Given the description of an element on the screen output the (x, y) to click on. 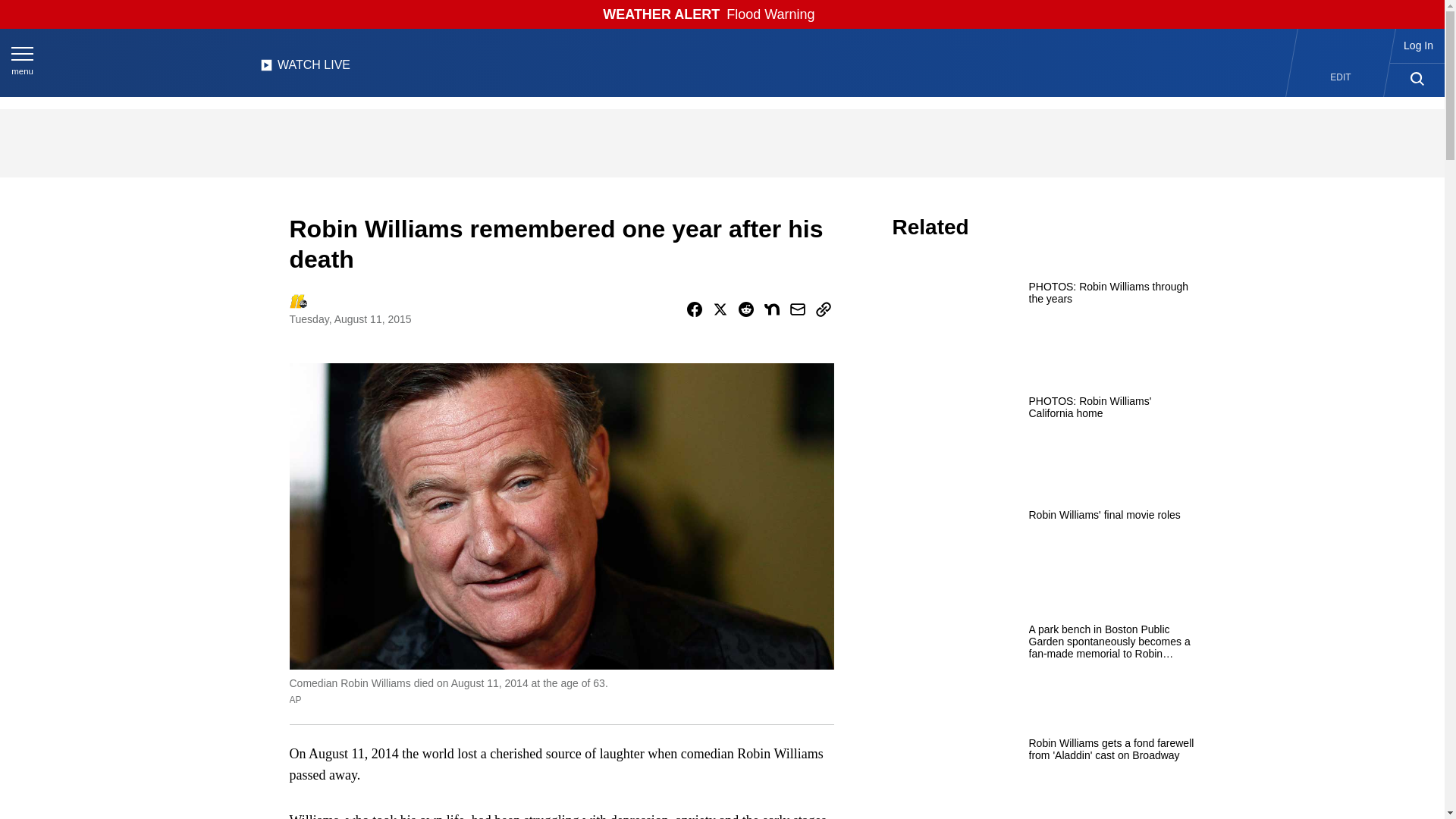
WATCH LIVE (305, 69)
EDIT (1340, 77)
